Given the description of an element on the screen output the (x, y) to click on. 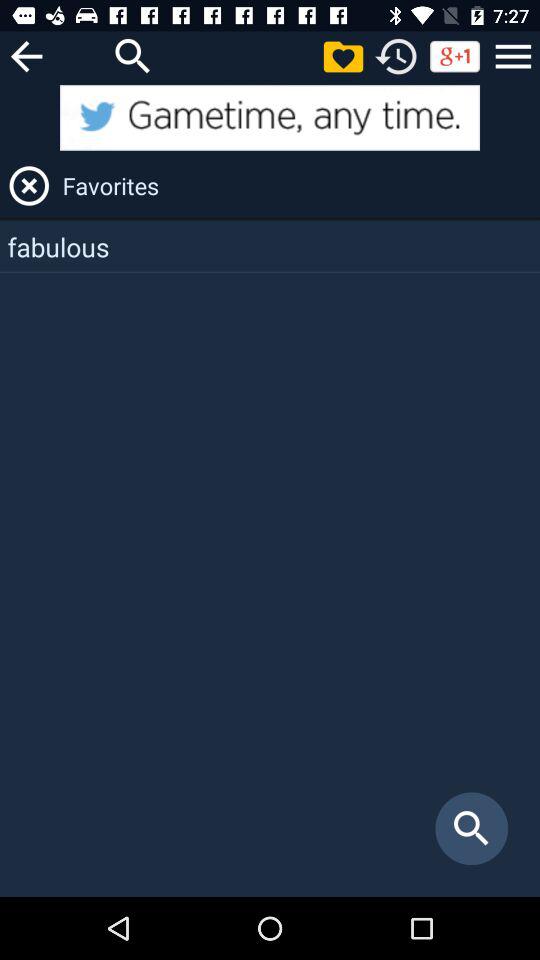
view favorites (343, 56)
